Given the description of an element on the screen output the (x, y) to click on. 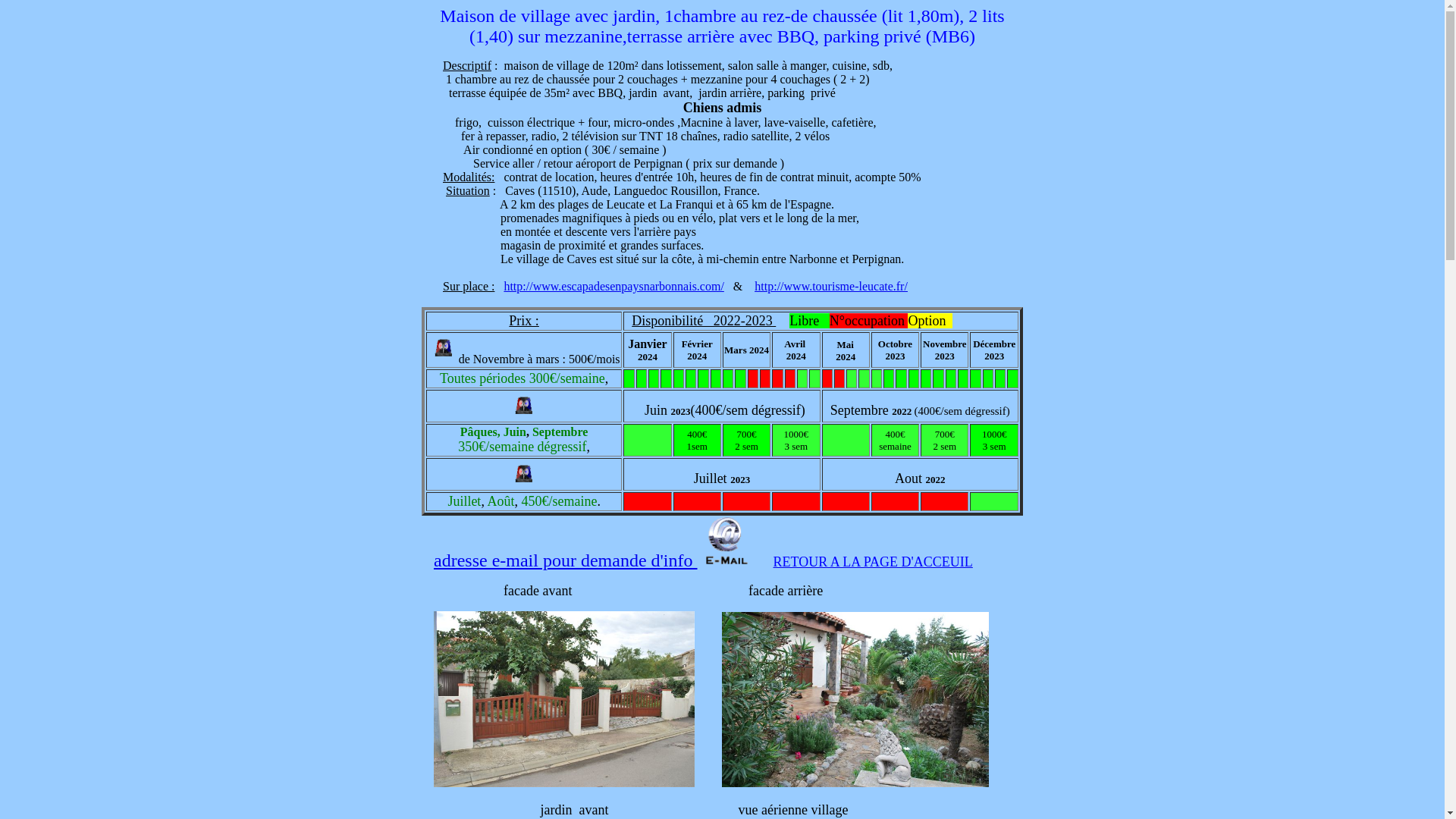
http://www.tourisme-leucate.fr/ Element type: text (830, 285)
adresse e-mail pour demande d'info  Element type: text (565, 560)
RETOUR A LA PAGE D'ACCEUIL Element type: text (872, 561)
http://www.escapadesenpaysnarbonnais.com/ Element type: text (613, 285)
